Given the description of an element on the screen output the (x, y) to click on. 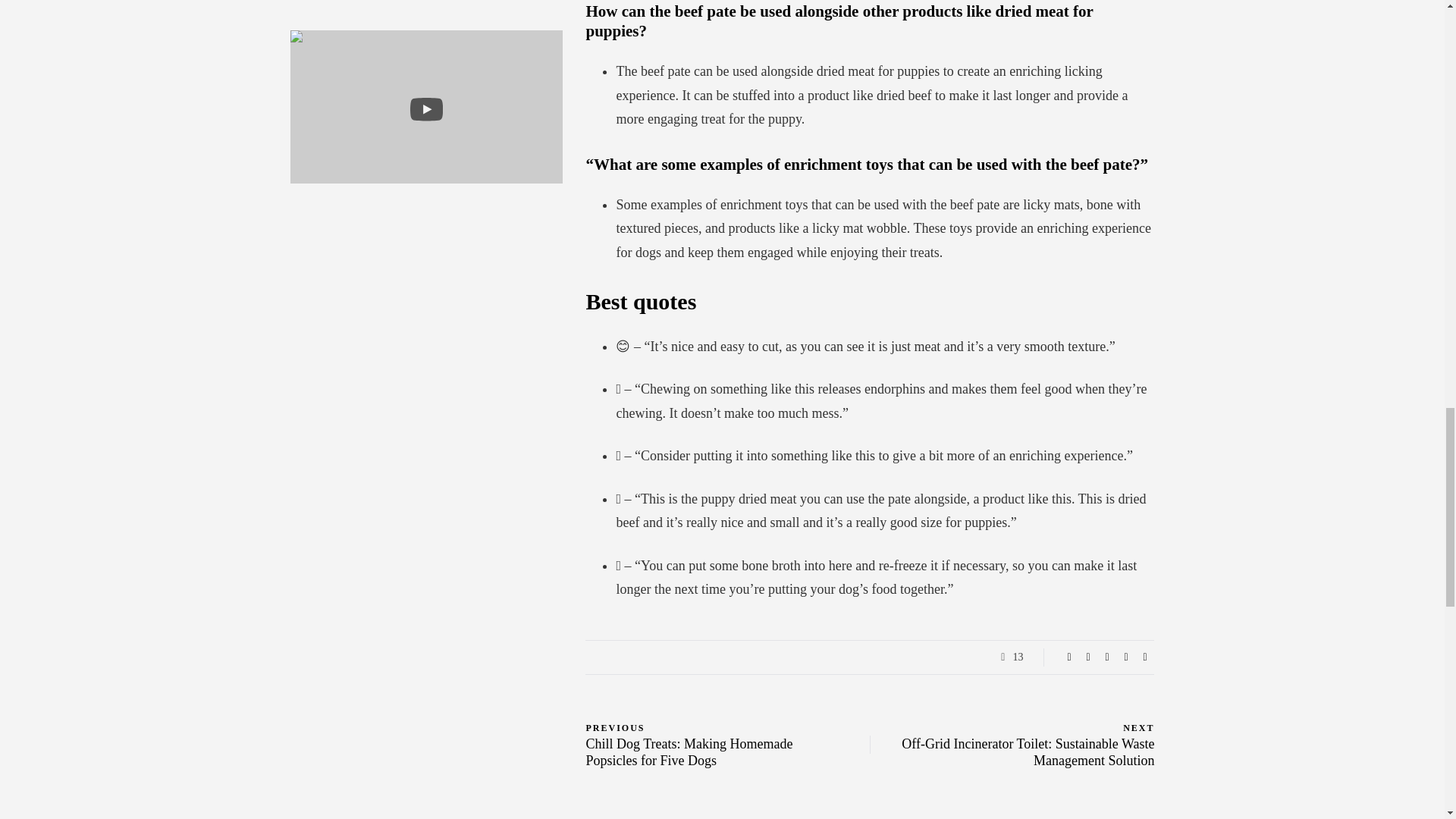
Share by Email (1144, 657)
Share with LinkedIn (1106, 657)
Share with Facebook (1068, 657)
Tweet this (1087, 657)
Pin this (1125, 657)
